Given the description of an element on the screen output the (x, y) to click on. 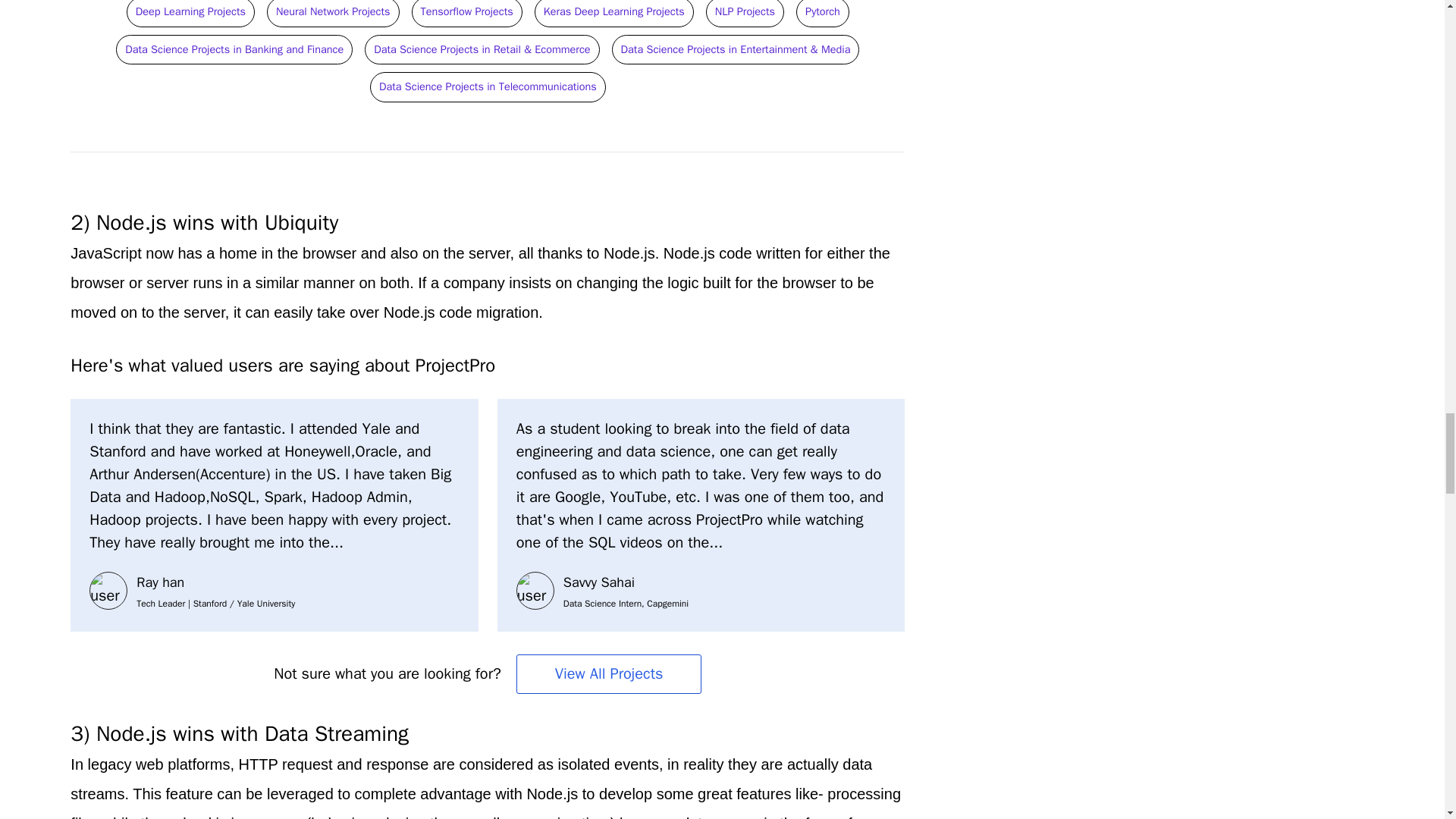
Data Science Projects in Banking and Finance (234, 47)
Keras Deep Learning Projects (614, 9)
Data Science Projects in Telecommunications (488, 85)
Deep Learning Projects (190, 9)
Neural Network Projects (333, 9)
Pytorch (822, 9)
NLP Projects (744, 9)
Tensorflow Projects (466, 9)
View All Projects (608, 673)
